Given the description of an element on the screen output the (x, y) to click on. 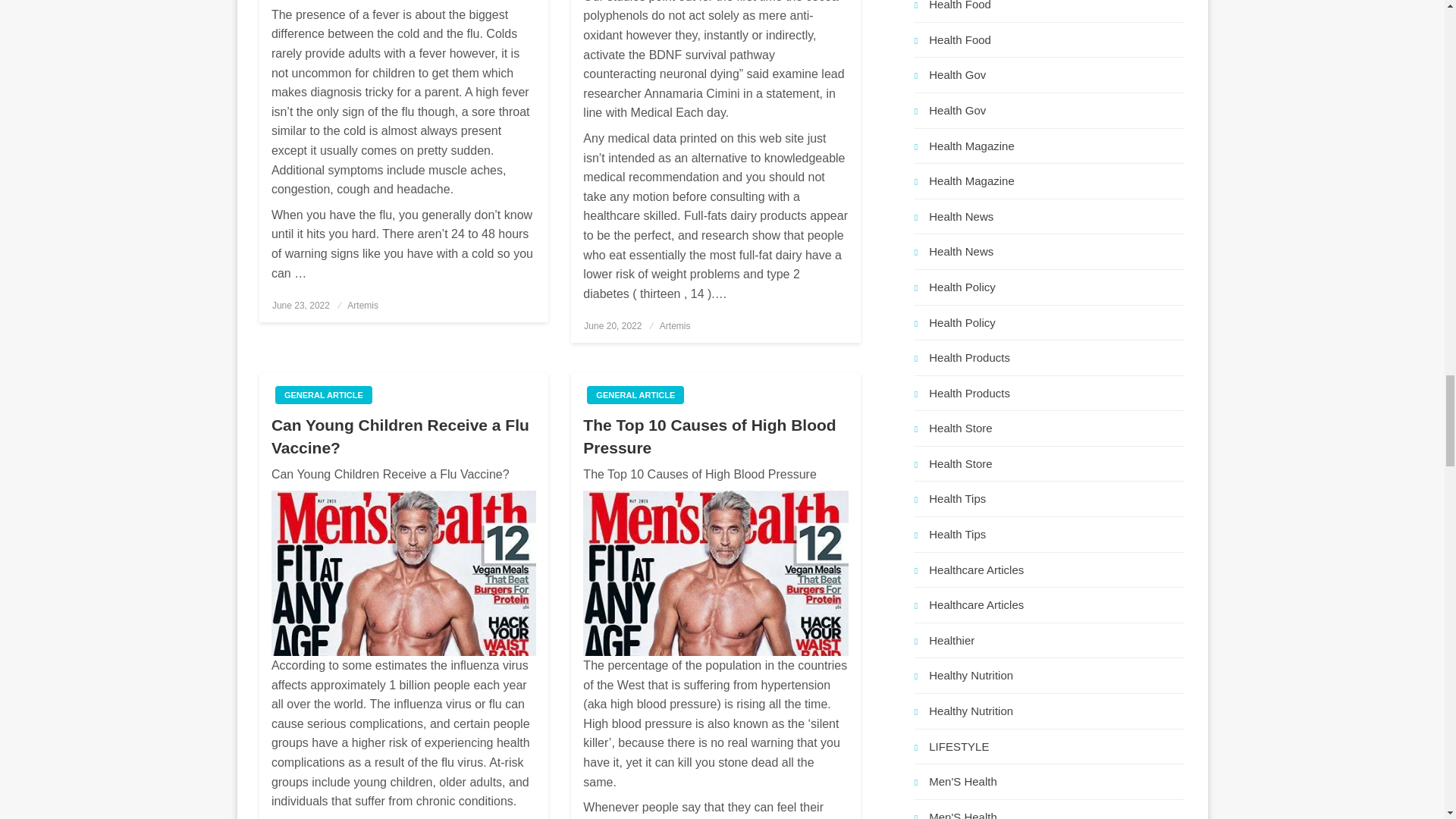
Artemis (362, 305)
Artemis (674, 326)
